Given the description of an element on the screen output the (x, y) to click on. 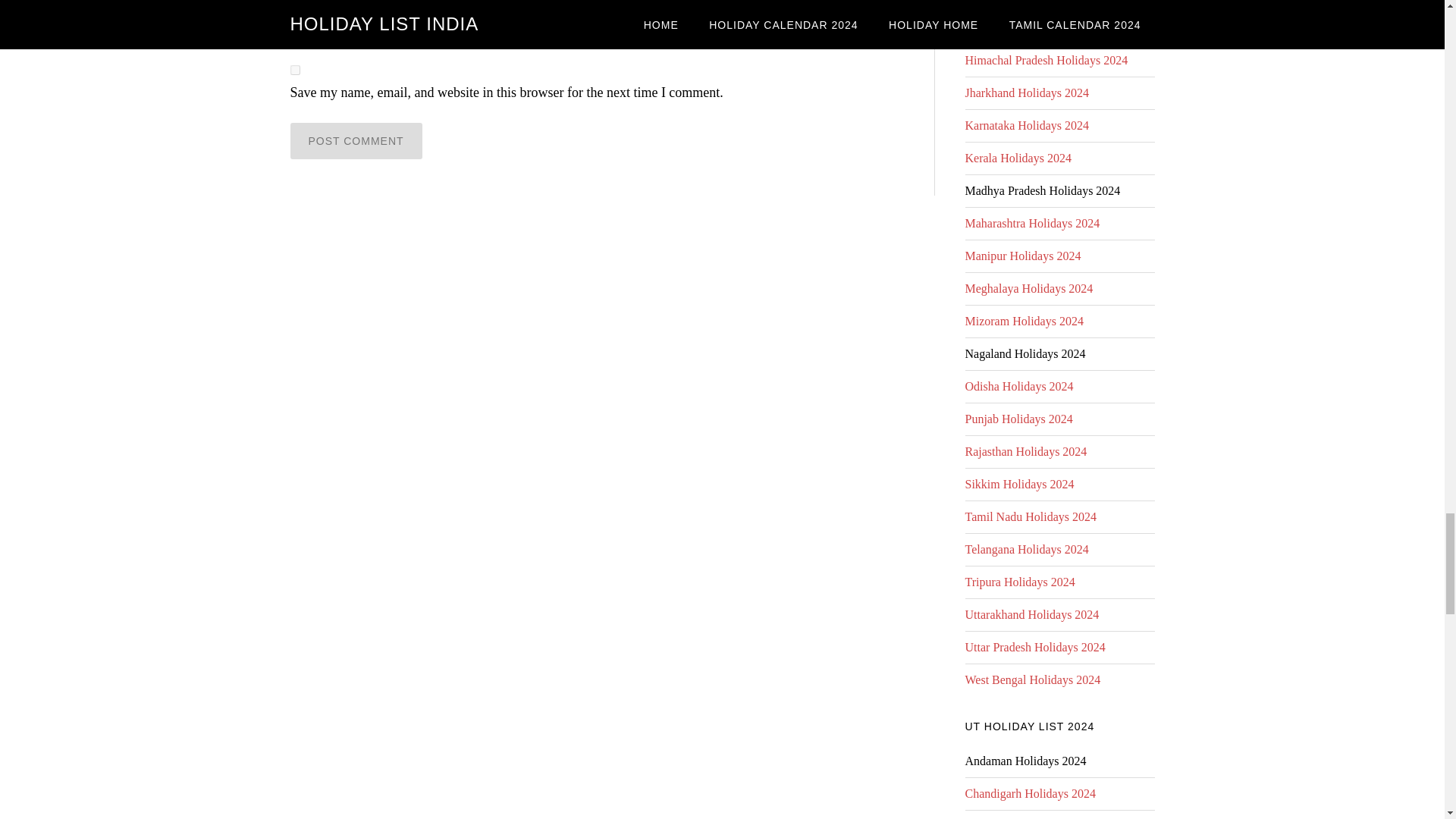
Post Comment (355, 140)
yes (294, 70)
